Given the description of an element on the screen output the (x, y) to click on. 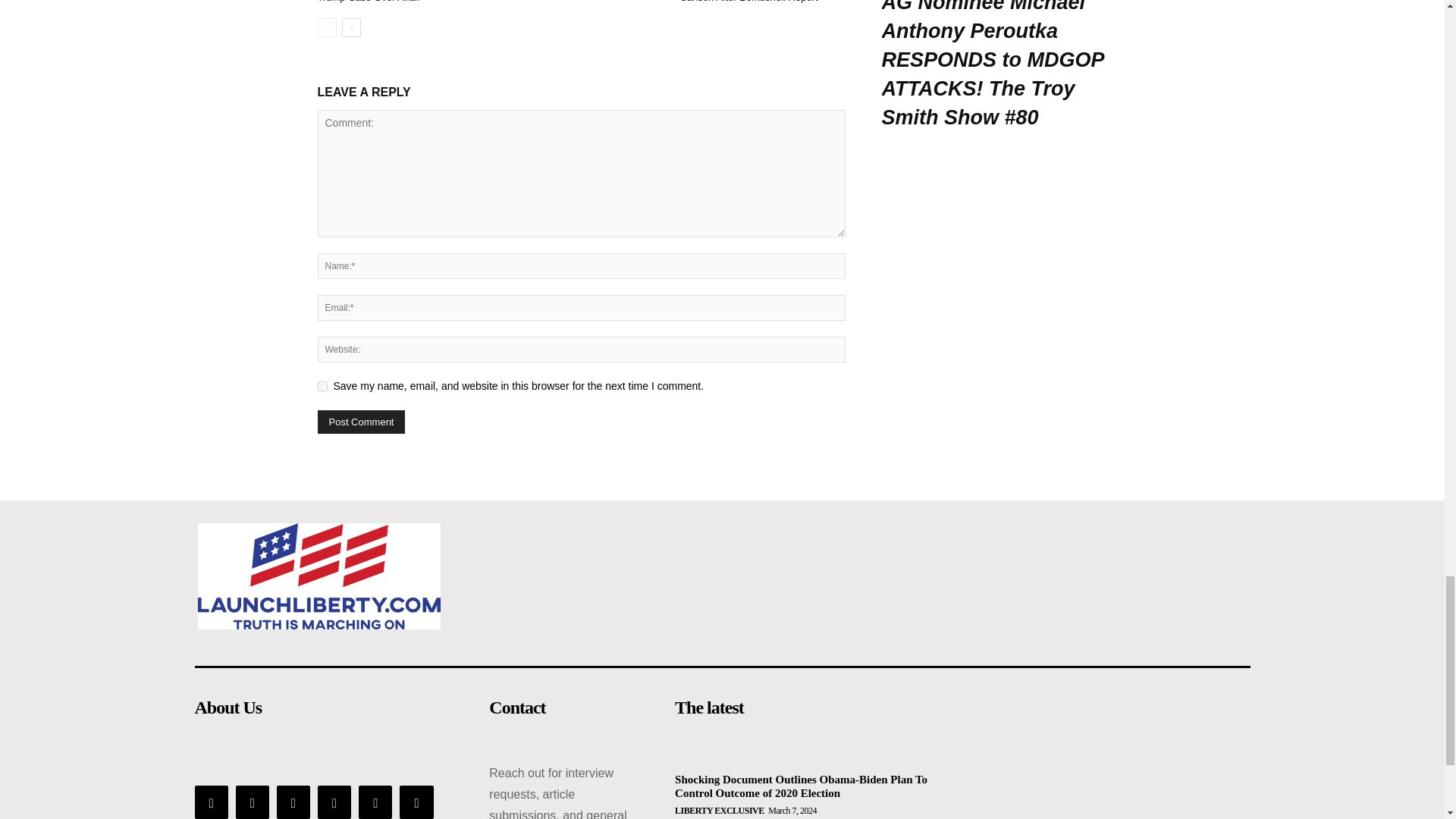
Post Comment (360, 422)
yes (321, 386)
